Given the description of an element on the screen output the (x, y) to click on. 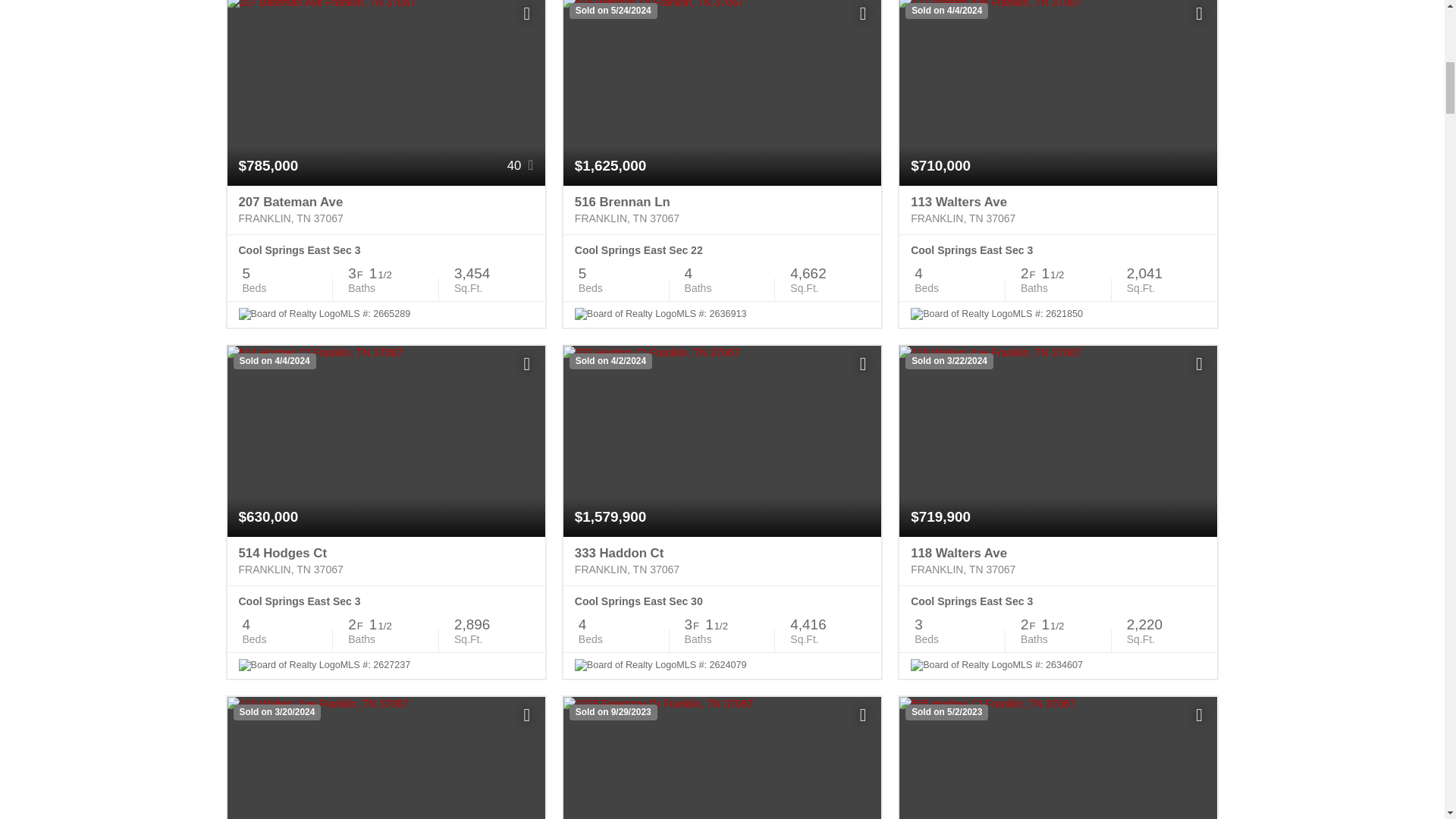
113 Walters Ave Franklin,  TN 37067 (1058, 210)
516 Brennan Ln Franklin,  TN 37067 (721, 210)
514 Hodges Ct Franklin,  TN 37067 (385, 561)
207 Bateman Ave Franklin,  TN 37067 (385, 210)
